Given the description of an element on the screen output the (x, y) to click on. 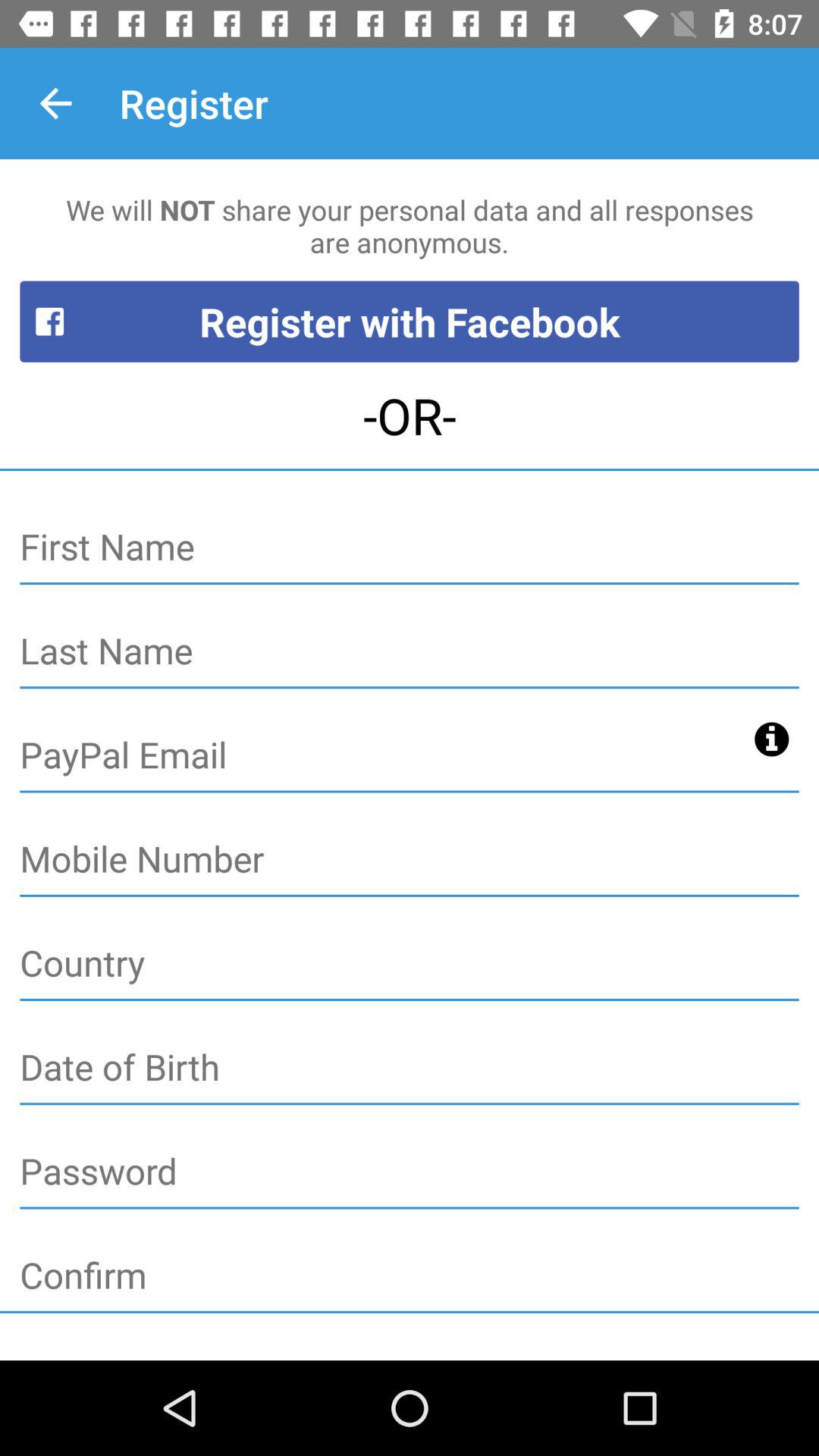
turn off the register with facebook item (409, 321)
